Given the description of an element on the screen output the (x, y) to click on. 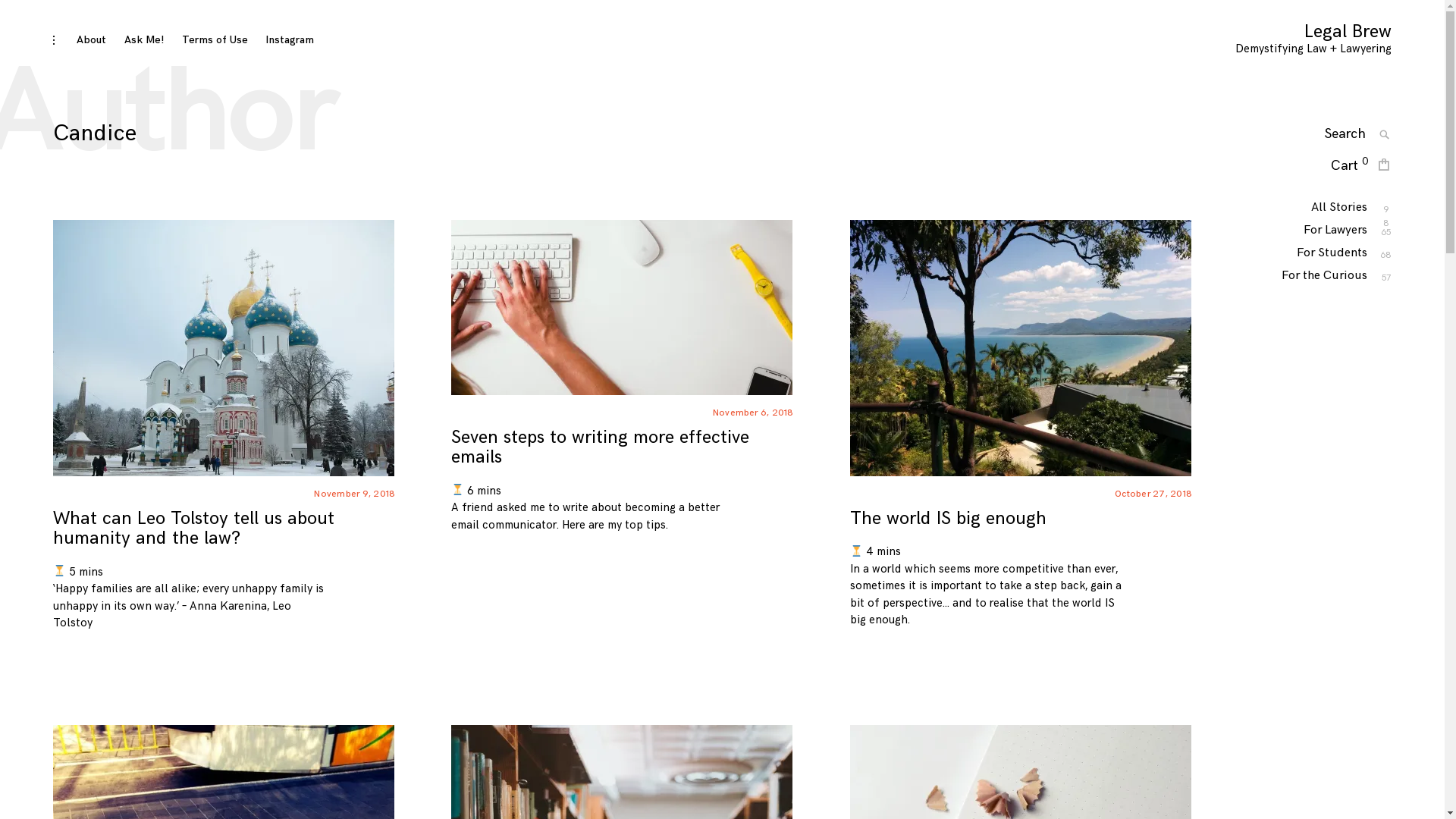
SEARCH Element type: text (1384, 135)
Legal Brew Element type: text (1347, 31)
Subscribe Element type: text (945, 219)
For the Curious
57 Element type: text (1324, 275)
Ask Me! Element type: text (143, 39)
Skip to content Element type: text (52, 29)
All Stories
98 Element type: text (1338, 207)
Instagram Element type: text (289, 39)
toggle open/close sidebar Element type: text (53, 40)
What can Leo Tolstoy tell us about humanity and the law? Element type: text (193, 528)
October 27, 2018 Element type: text (1153, 493)
Cart 0 Element type: text (1349, 166)
November 9, 2018 Element type: text (354, 493)
Terms of Use Element type: text (214, 39)
About Element type: text (91, 39)
Search Element type: text (311, 140)
For Lawyers
65 Element type: text (1335, 229)
For Students
68 Element type: text (1331, 252)
The world IS big enough Element type: text (948, 518)
November 6, 2018 Element type: text (752, 412)
Seven steps to writing more effective emails Element type: text (600, 446)
